Given the description of an element on the screen output the (x, y) to click on. 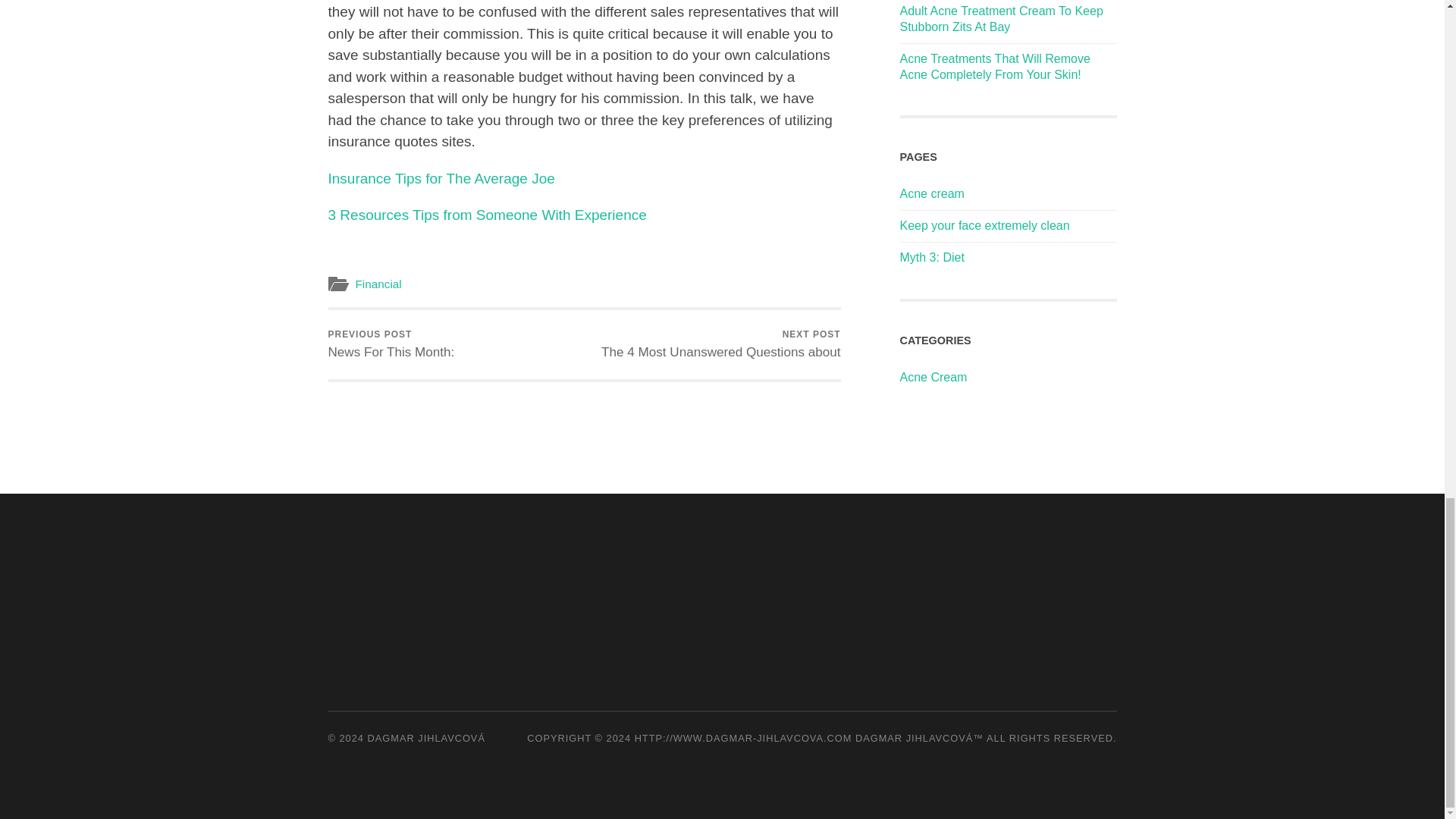
Keep your face extremely clean (983, 225)
Myth 3: Diet (931, 256)
Acne cream (931, 193)
Adult Acne Treatment Cream To Keep Stubborn Zits At Bay (1000, 18)
Financial (390, 344)
Insurance Tips for The Average Joe (378, 283)
Acne Cream (720, 344)
3 Resources Tips from Someone With Experience (440, 178)
